Given the description of an element on the screen output the (x, y) to click on. 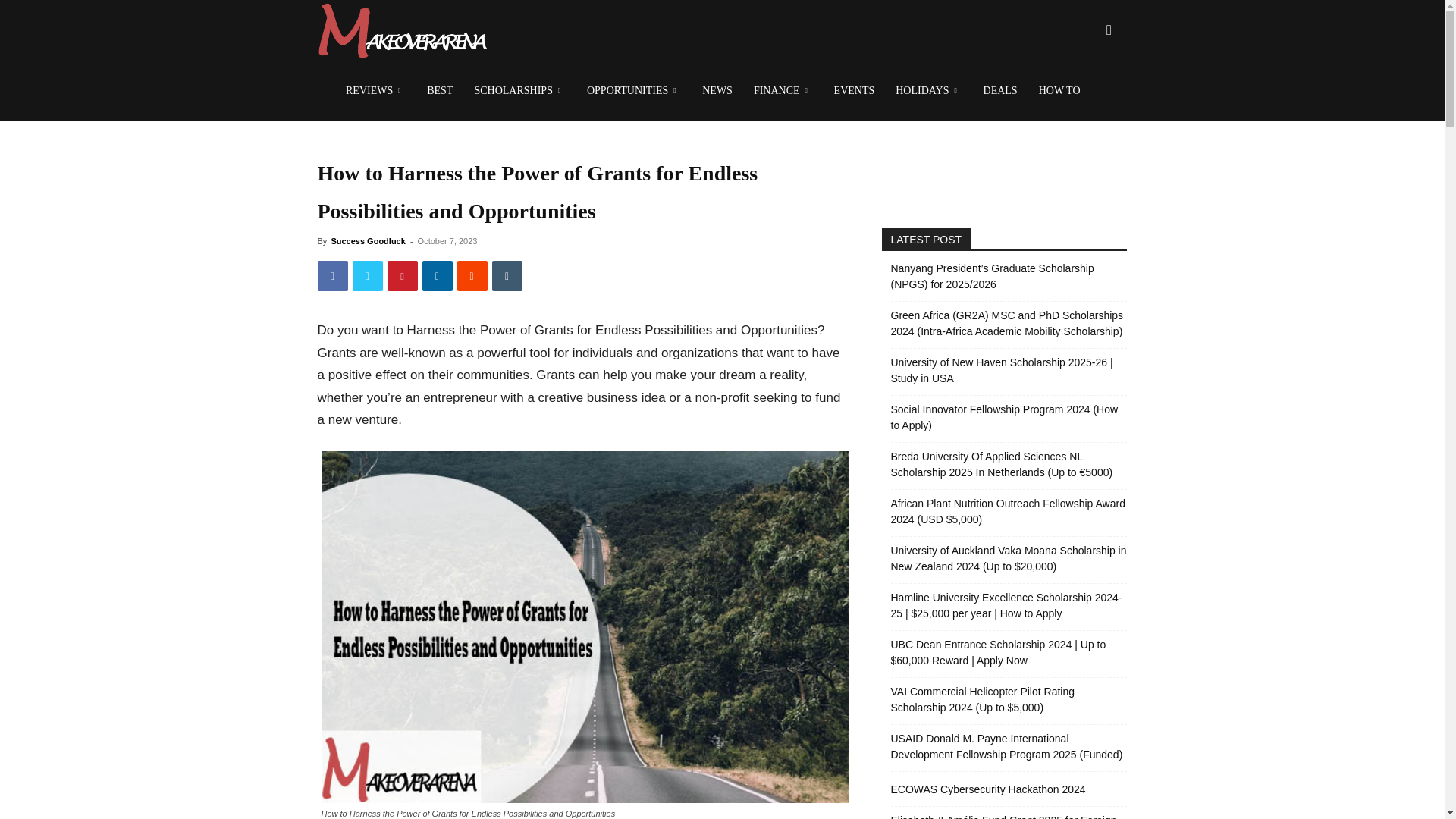
Linkedin (436, 276)
Twitter (366, 276)
ReddIt (471, 276)
Tumblr (506, 276)
Pinterest (401, 276)
Facebook (332, 276)
